Given the description of an element on the screen output the (x, y) to click on. 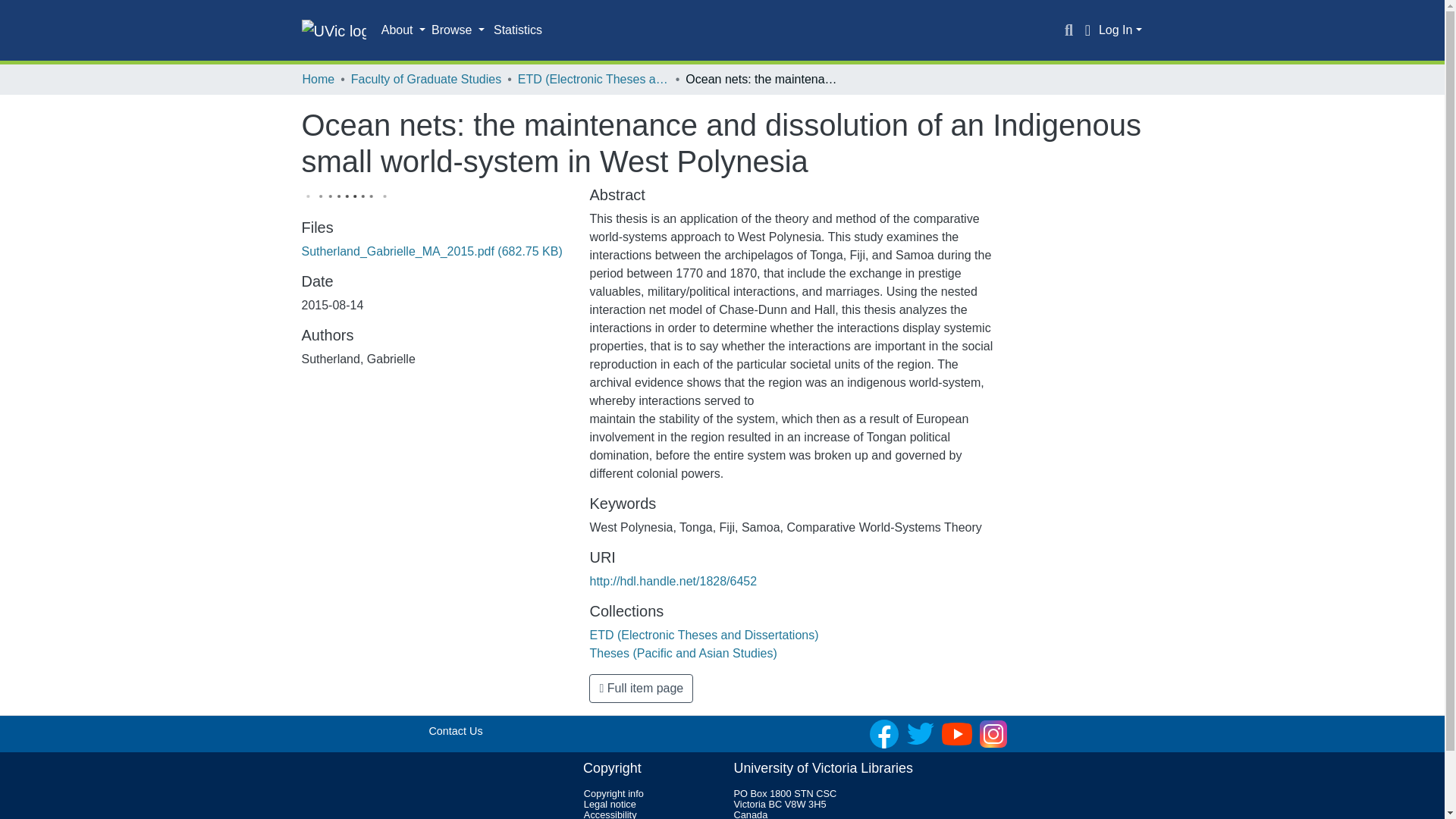
About (403, 30)
Browse (457, 30)
Language switch (1087, 30)
Home (317, 79)
Statistics (517, 30)
Contact Us (454, 730)
Faculty of Graduate Studies (425, 79)
Log In (1119, 29)
Full item page (641, 688)
Search (1068, 30)
Statistics (517, 30)
